Given the description of an element on the screen output the (x, y) to click on. 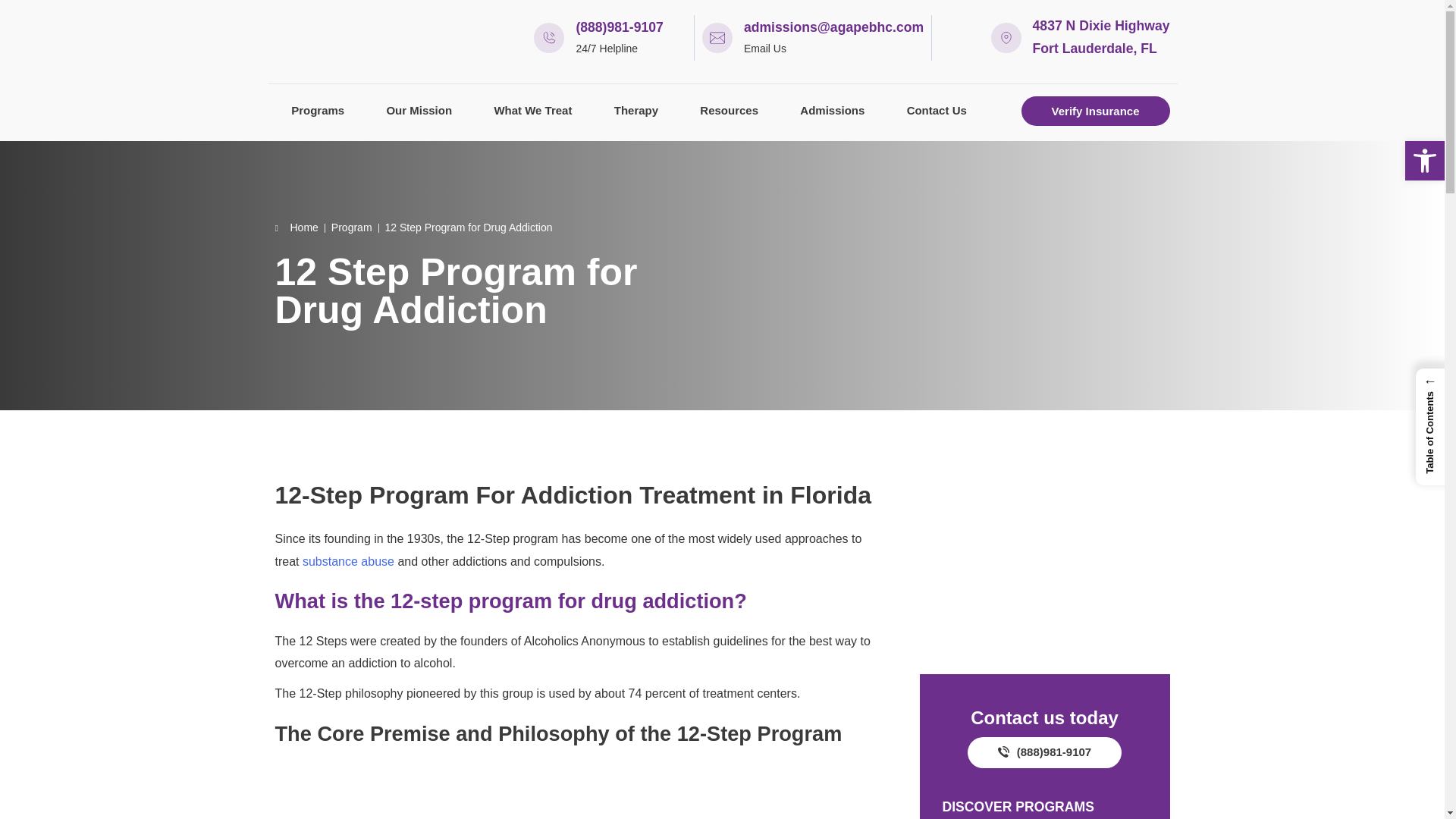
What We Treat (532, 110)
Accessibility Tools (1424, 160)
Our Mission (418, 110)
Programs (317, 110)
Therapy (635, 110)
